Given the description of an element on the screen output the (x, y) to click on. 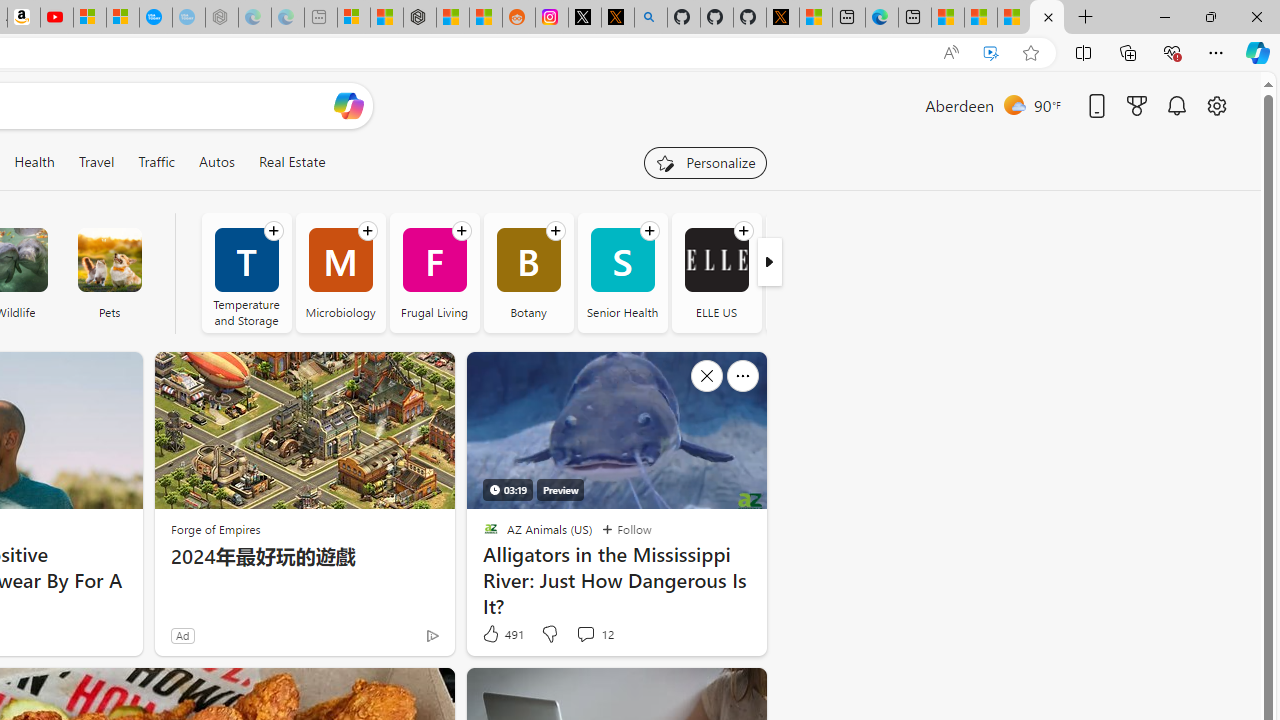
Personalize your feed" (704, 162)
Follow (626, 529)
Follow channel (743, 231)
View comments 12 Comment (585, 633)
View comments 12 Comment (594, 633)
Mostly sunny (1014, 104)
Pets (109, 260)
